Given the description of an element on the screen output the (x, y) to click on. 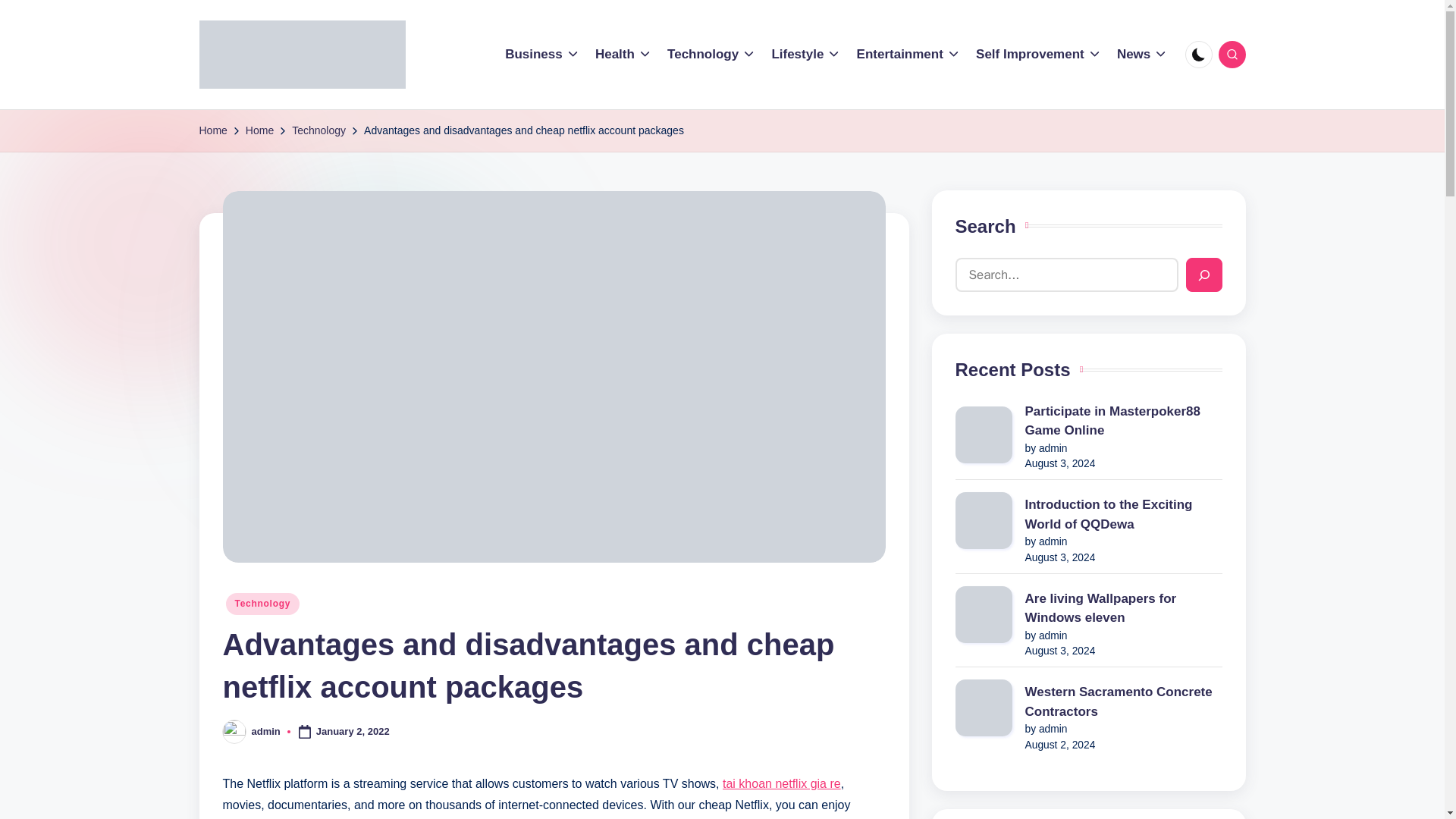
Health (623, 54)
View all posts by admin (266, 731)
Business (542, 54)
Lifestyle (806, 54)
Technology (710, 54)
Entertainment (908, 54)
